Given the description of an element on the screen output the (x, y) to click on. 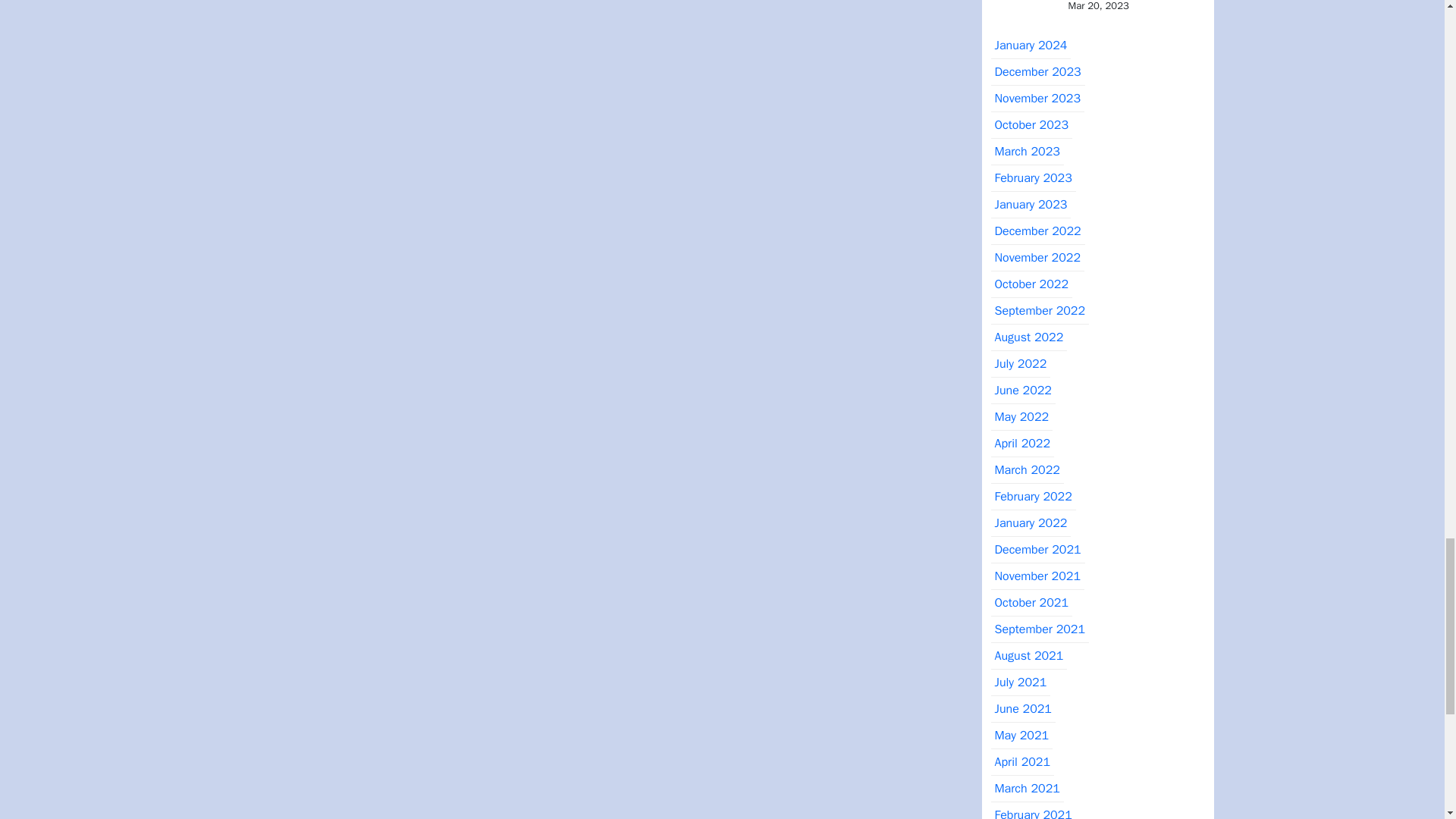
March 2023 (1026, 151)
October 2023 (1030, 125)
January 2024 (1030, 45)
November 2023 (1036, 98)
February 2023 (1032, 178)
December 2023 (1037, 71)
January 2023 (1030, 204)
